Given the description of an element on the screen output the (x, y) to click on. 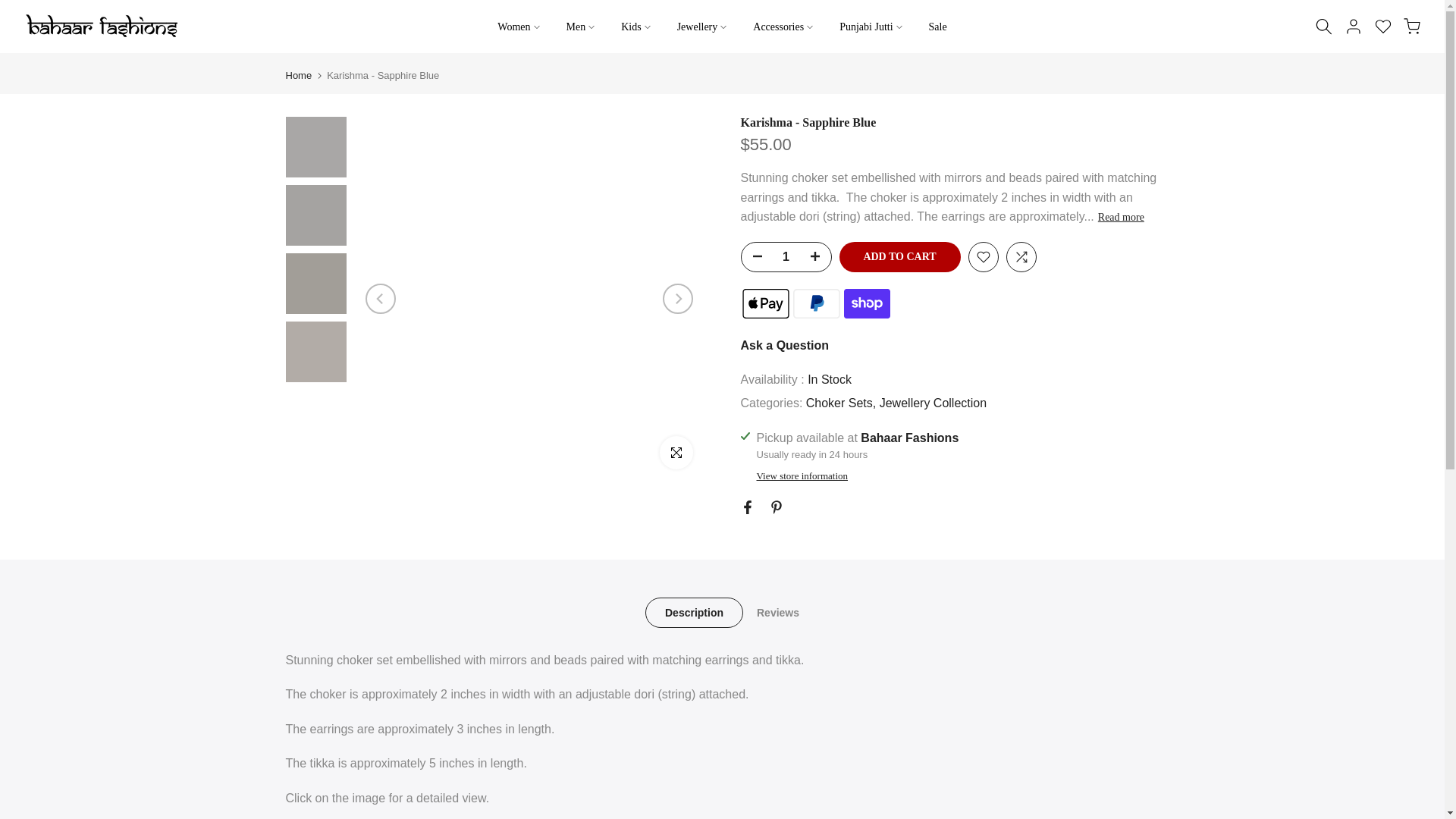
1 (786, 256)
Women (518, 27)
Kids (635, 27)
Jewellery (701, 27)
Skip to content (10, 7)
Share on Facebook (746, 507)
Men (580, 27)
Share on Pinterest (775, 507)
